Given the description of an element on the screen output the (x, y) to click on. 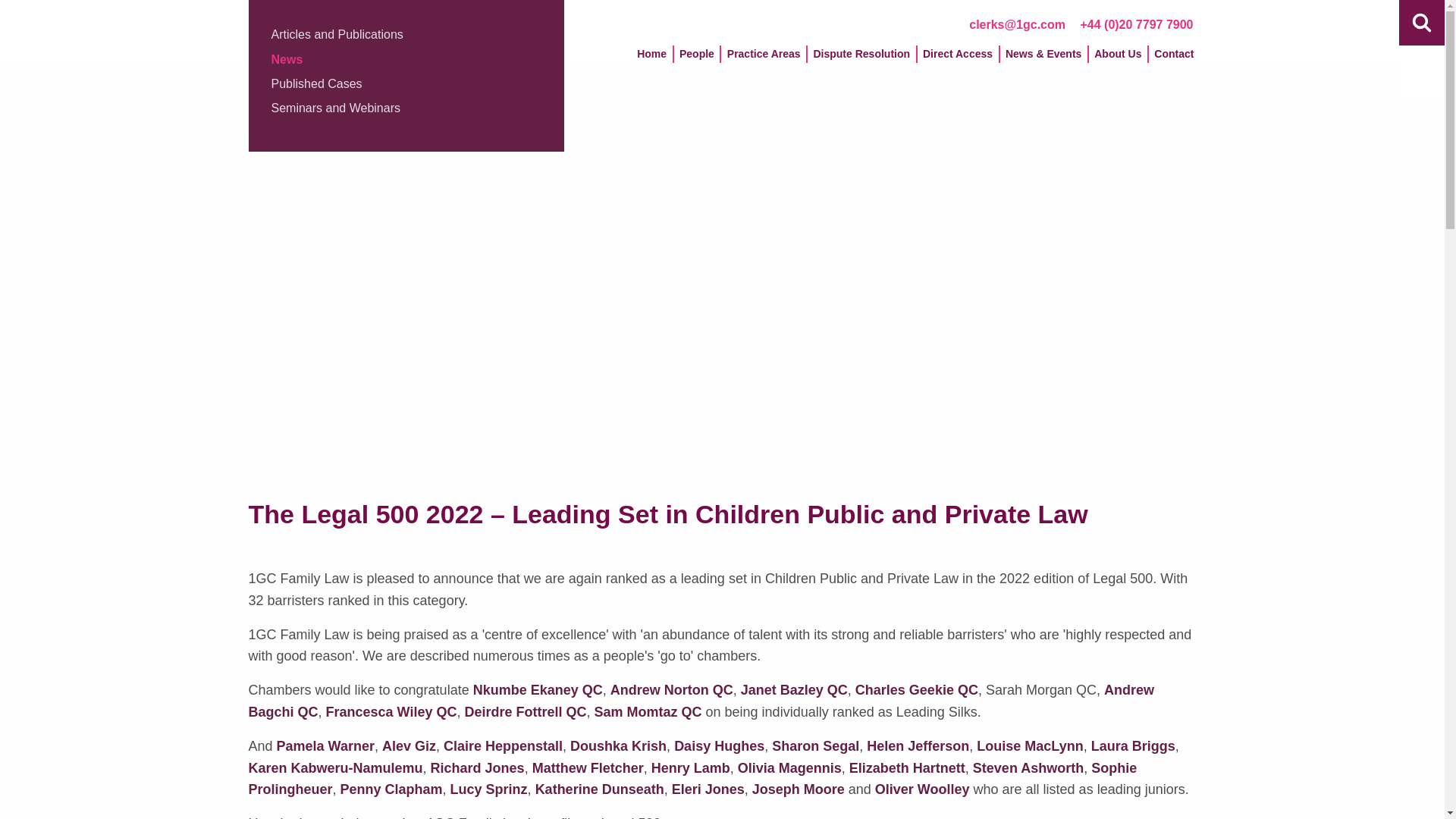
Dispute Resolution (861, 58)
Direct Access (957, 58)
Practice Areas (764, 58)
Home (651, 58)
Contact (1173, 58)
About Us (1117, 58)
People (696, 58)
